Given the description of an element on the screen output the (x, y) to click on. 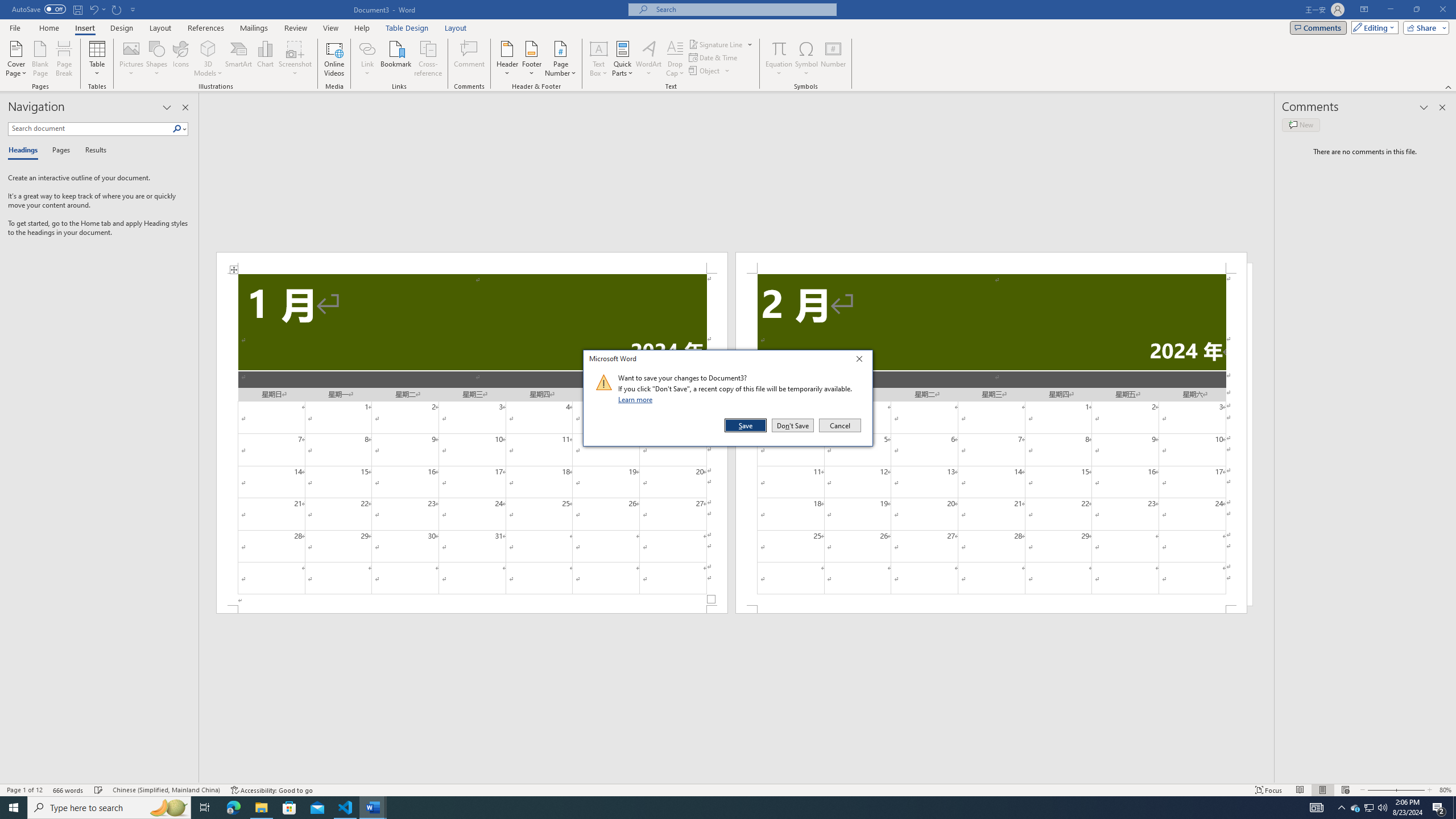
Header -Section 2- (991, 263)
Task Pane Options (167, 107)
Design (122, 28)
Table Design (407, 28)
Blank Page (40, 58)
Pictures (131, 58)
New comment (1300, 124)
Help (361, 28)
Undo Increase Indent (92, 9)
Screenshot (295, 58)
Language Chinese (Simplified, Mainland China) (165, 790)
Shapes (156, 58)
